Given the description of an element on the screen output the (x, y) to click on. 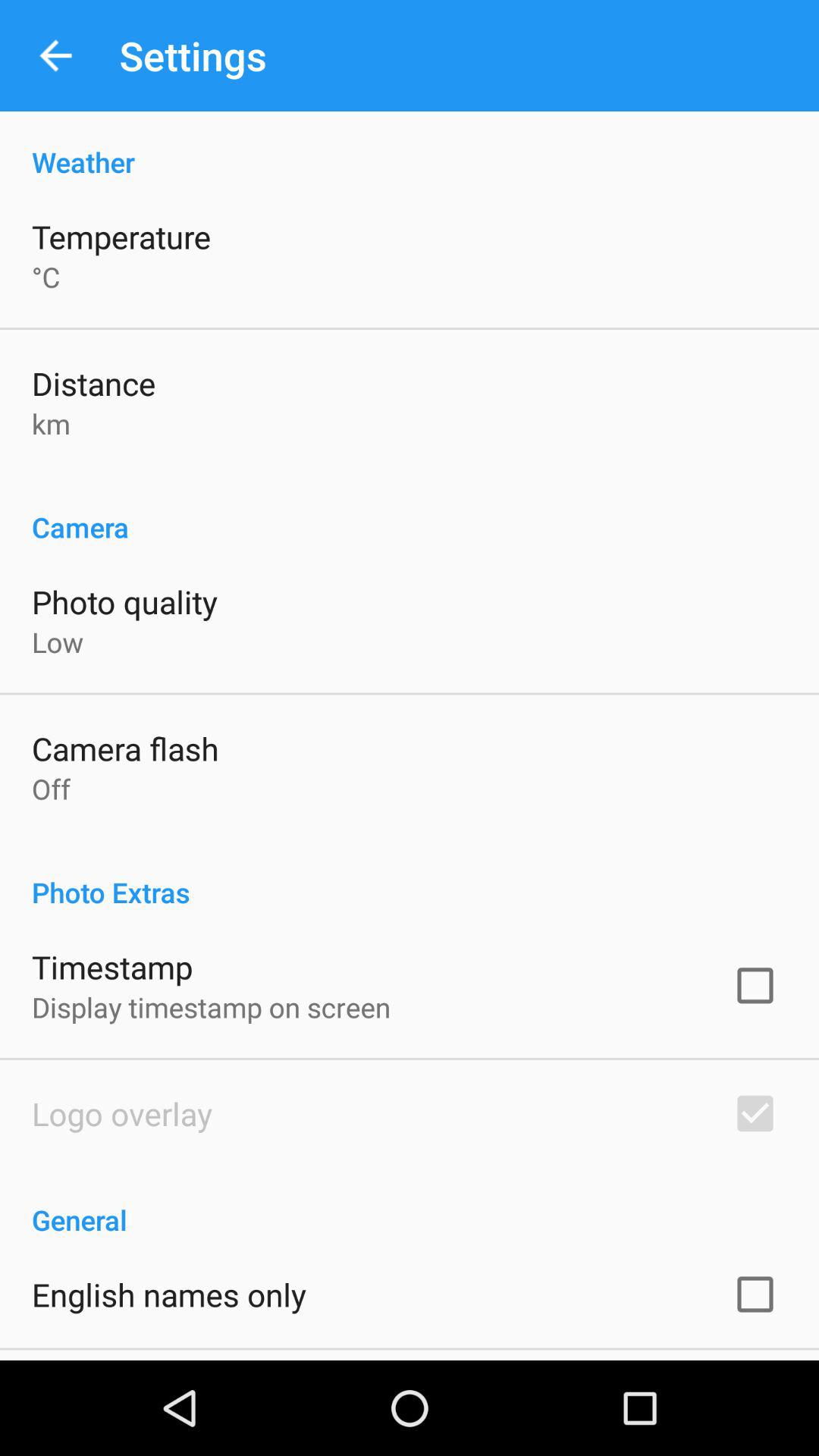
back up (55, 55)
